Given the description of an element on the screen output the (x, y) to click on. 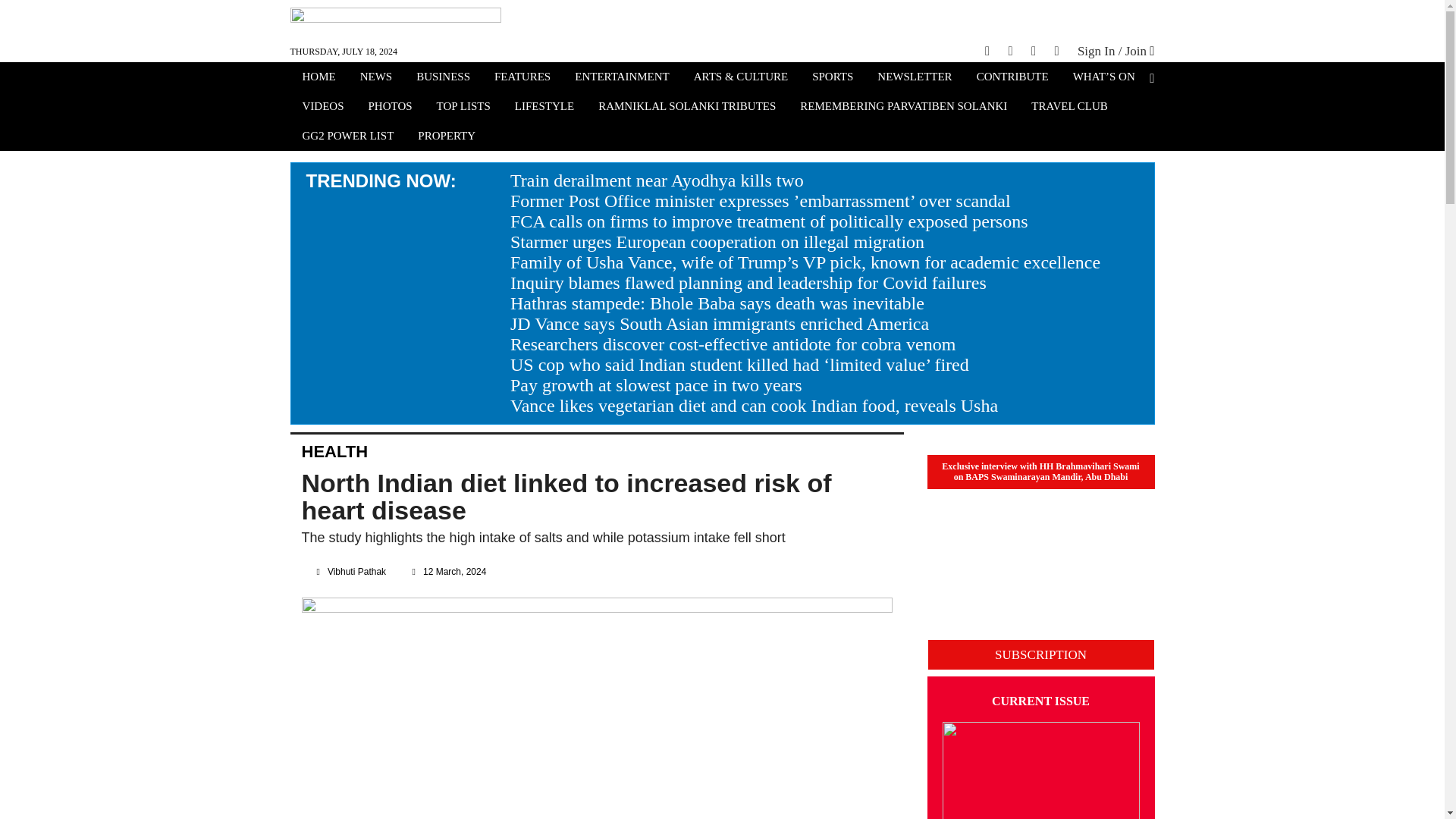
Researchers discover cost-effective antidote for cobra venom (733, 343)
Hathras stampede: Bhole Baba says death was inevitable (717, 302)
NEWS (375, 78)
NEWSLETTER (914, 78)
GG2 POWER LIST (346, 137)
TRAVEL CLUB (1069, 108)
PROPERTY (446, 137)
SPORTS (832, 78)
HOME (317, 78)
ENTERTAINMENT (622, 78)
Starmer urges European cooperation on illegal migration (717, 241)
TOP LISTS (463, 108)
FEATURES (521, 78)
PHOTOS (390, 108)
